Given the description of an element on the screen output the (x, y) to click on. 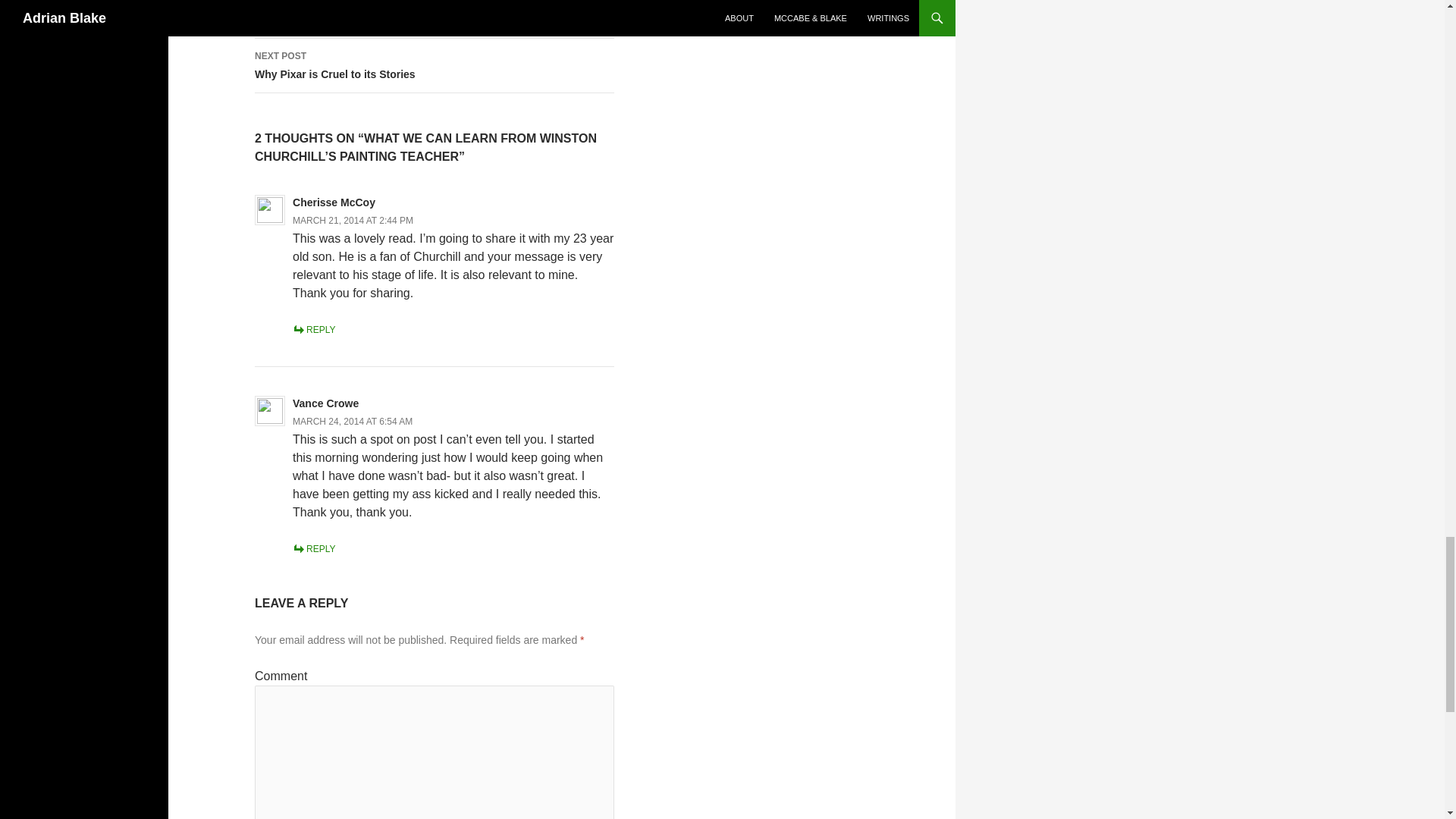
Vance Crowe (325, 403)
MARCH 24, 2014 AT 6:54 AM (352, 421)
Cherisse McCoy (333, 202)
MARCH 21, 2014 AT 2:44 PM (352, 220)
REPLY (434, 19)
